Given the description of an element on the screen output the (x, y) to click on. 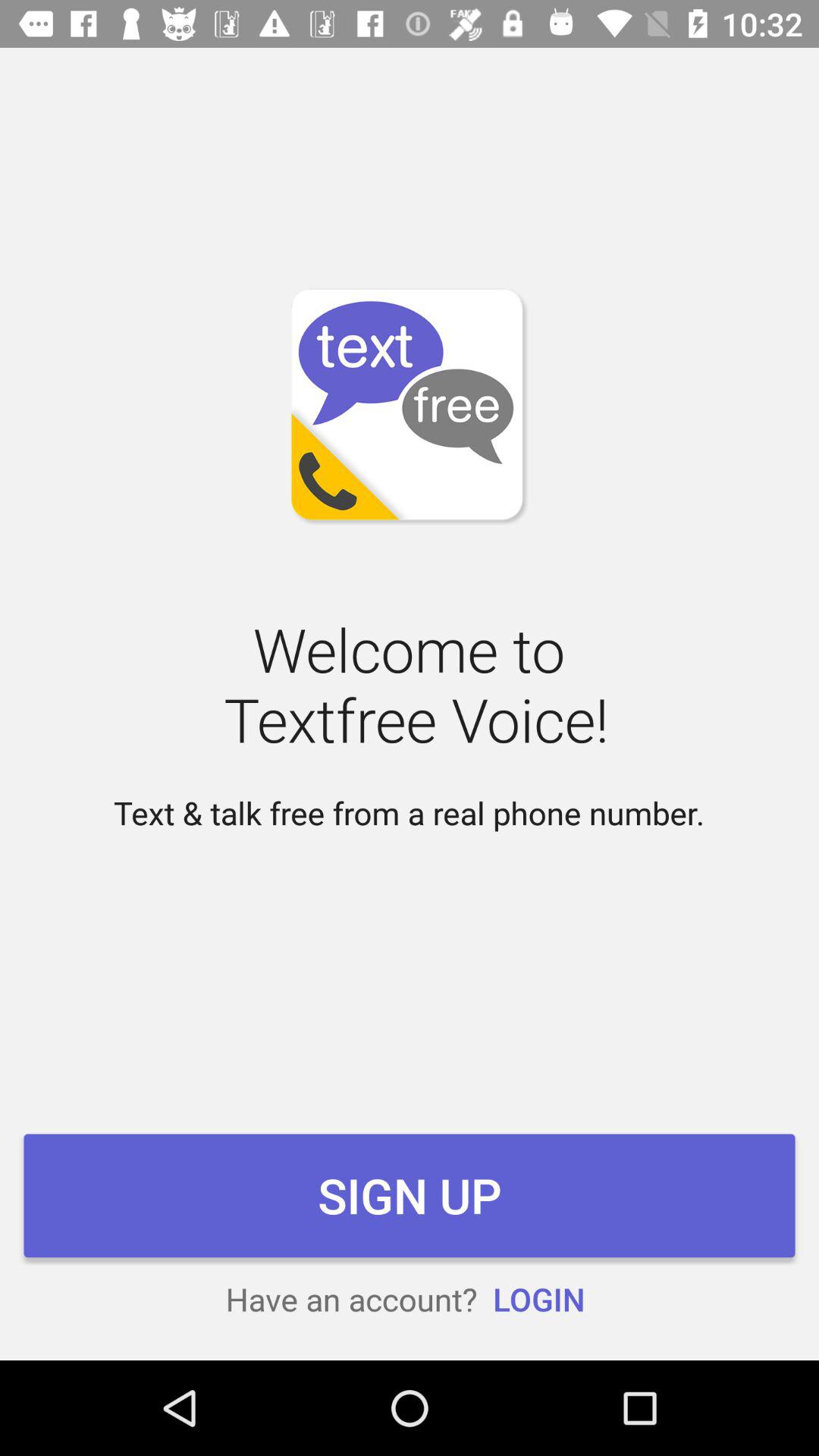
launch the icon below sign up item (539, 1298)
